Given the description of an element on the screen output the (x, y) to click on. 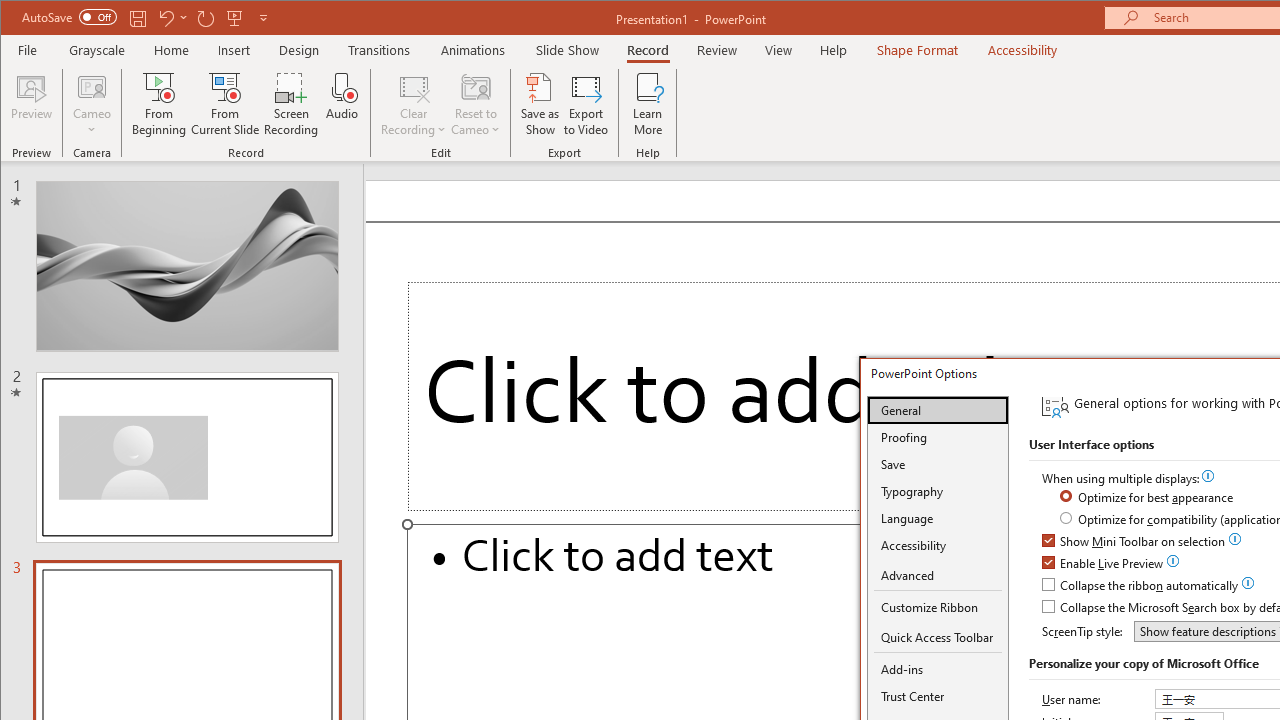
Advanced (937, 576)
Optimize for best appearance (1147, 498)
Add-ins (937, 669)
Learn More (648, 104)
General (937, 410)
From Beginning... (159, 104)
